Given the description of an element on the screen output the (x, y) to click on. 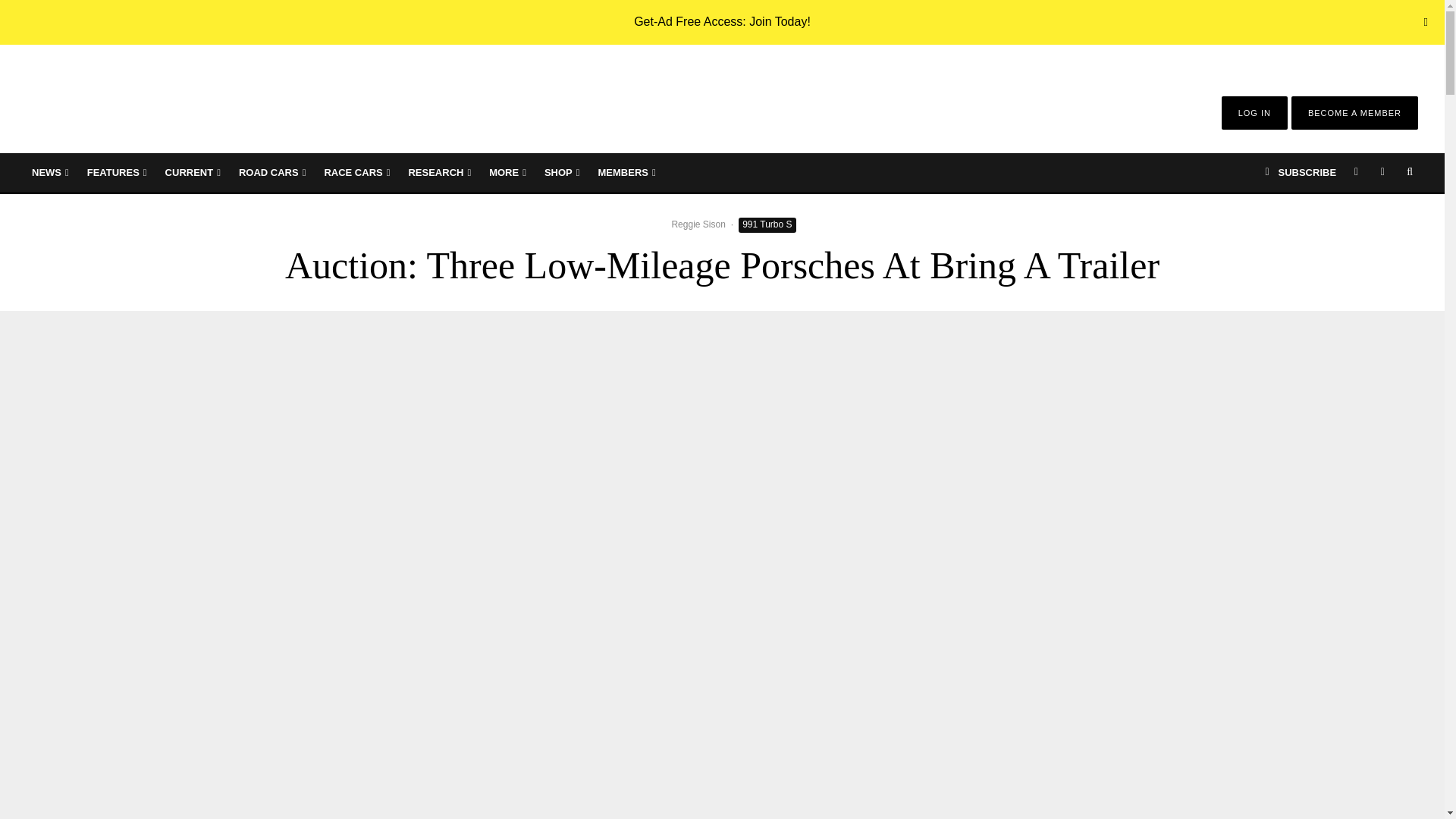
ROAD CARS (272, 172)
CURRENT (192, 172)
NEWS (50, 172)
BECOME A MEMBER (1353, 112)
LOG IN (1255, 112)
Get-Ad Free Access: Join Today! (721, 21)
Get-Ad Free Access: Join Today! (721, 21)
FEATURES (116, 172)
